Given the description of an element on the screen output the (x, y) to click on. 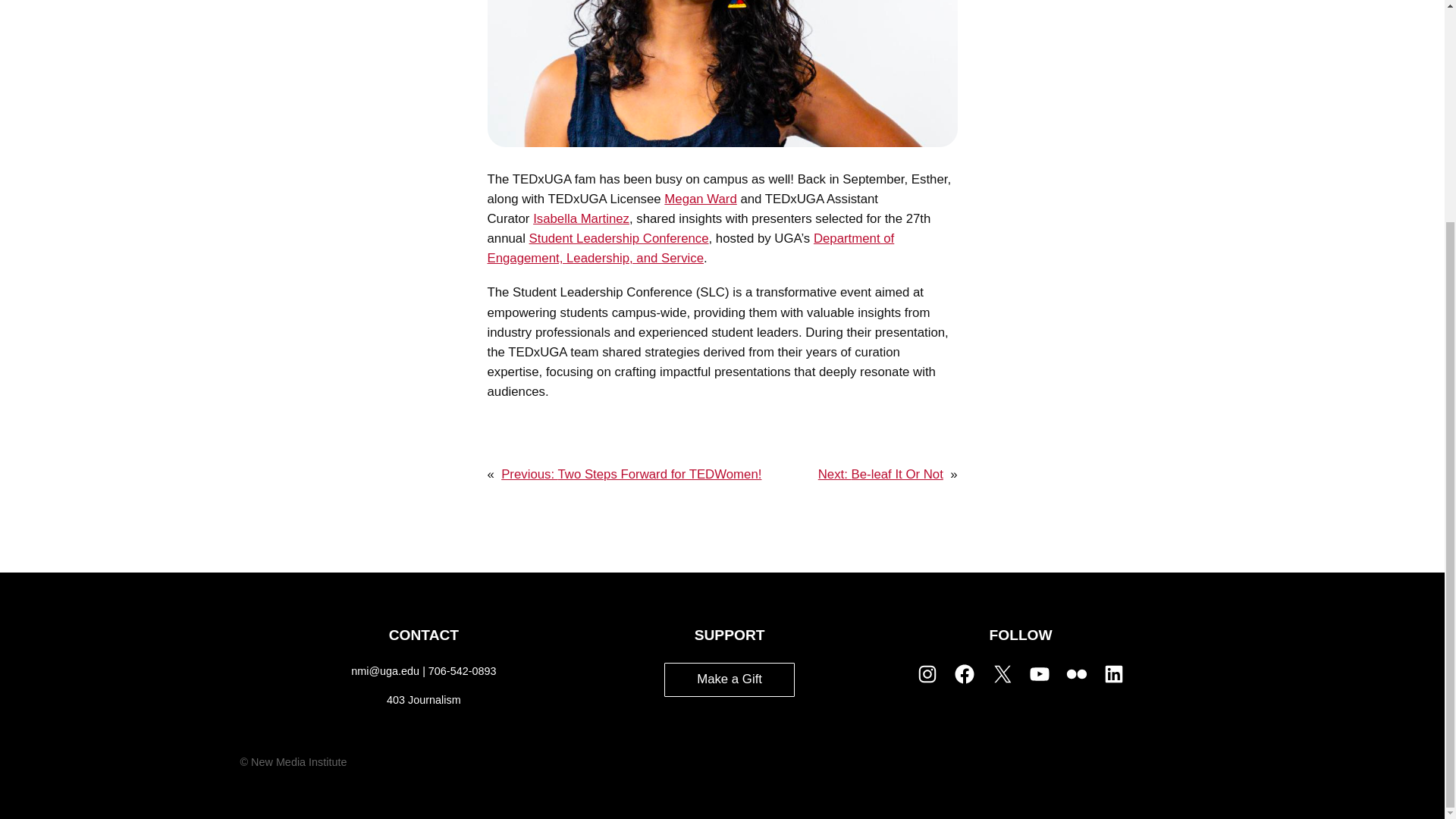
Megan Ward (699, 198)
